Given the description of an element on the screen output the (x, y) to click on. 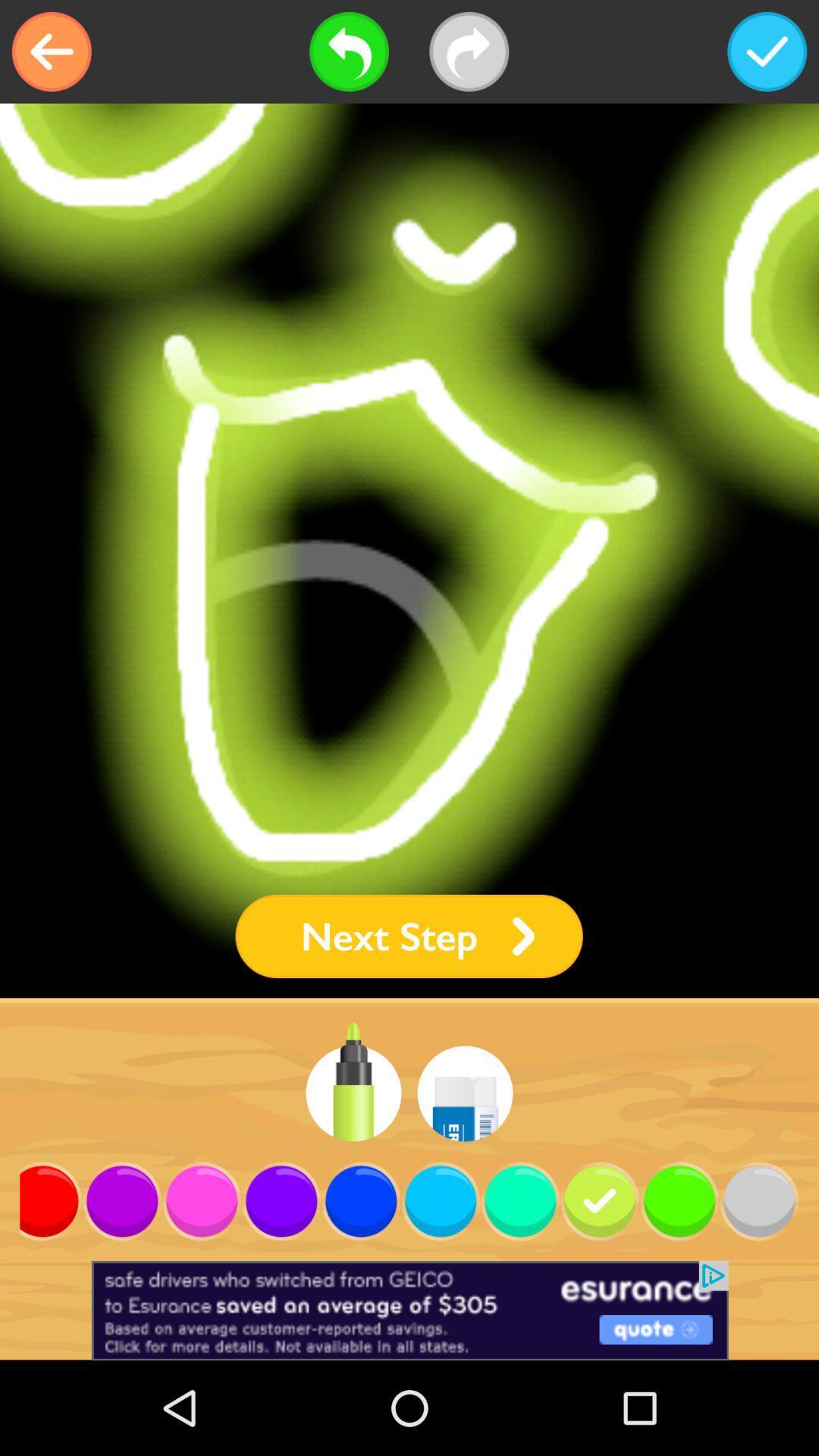
redo action (469, 51)
